Given the description of an element on the screen output the (x, y) to click on. 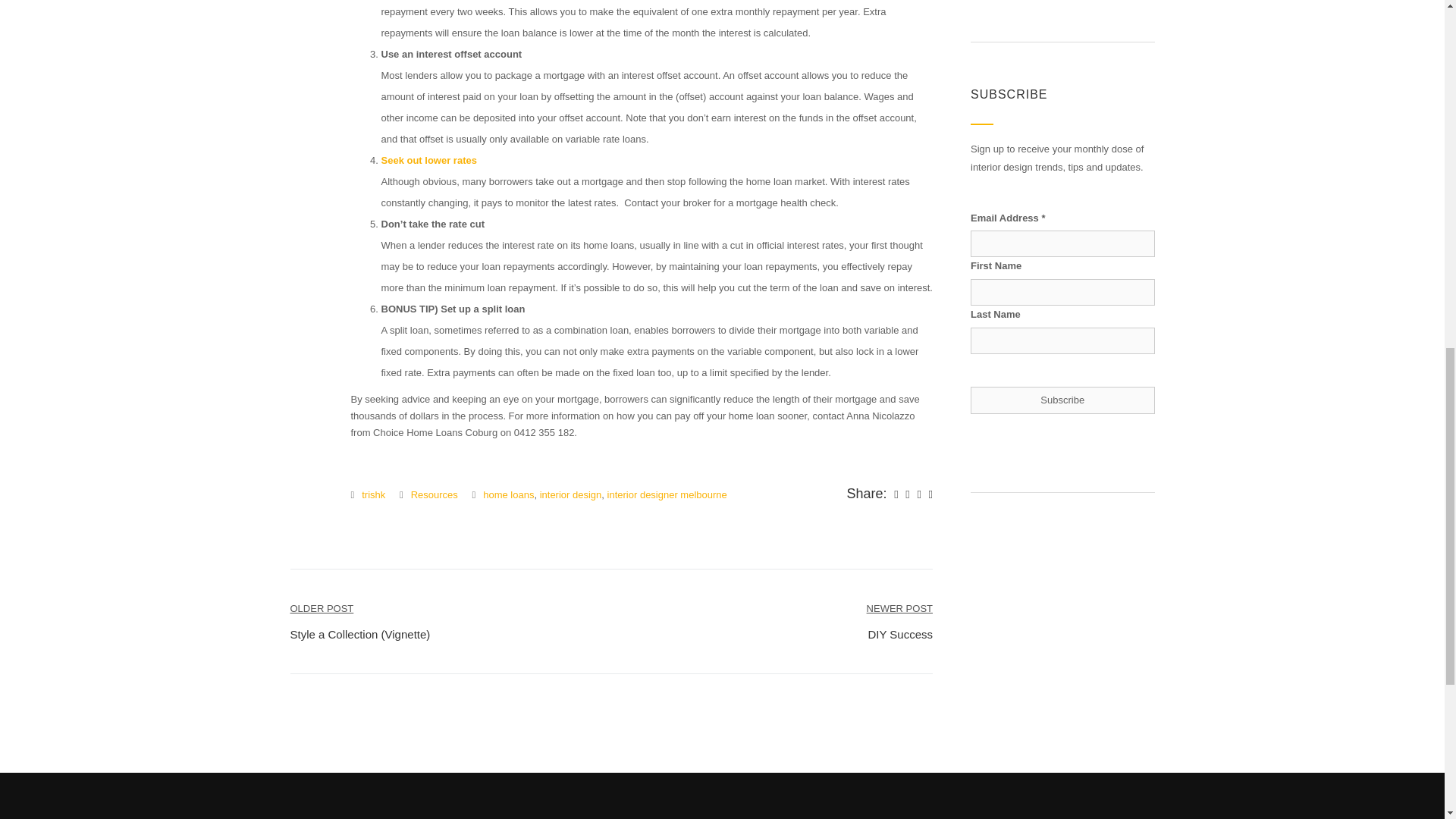
interior design (571, 494)
interior designer melbourne (666, 494)
Posts by trishk (373, 494)
Resources (434, 494)
Subscribe (1062, 399)
trishk (373, 494)
Seek out lower rates (899, 620)
Subscribe (428, 160)
home loans (1062, 399)
